Given the description of an element on the screen output the (x, y) to click on. 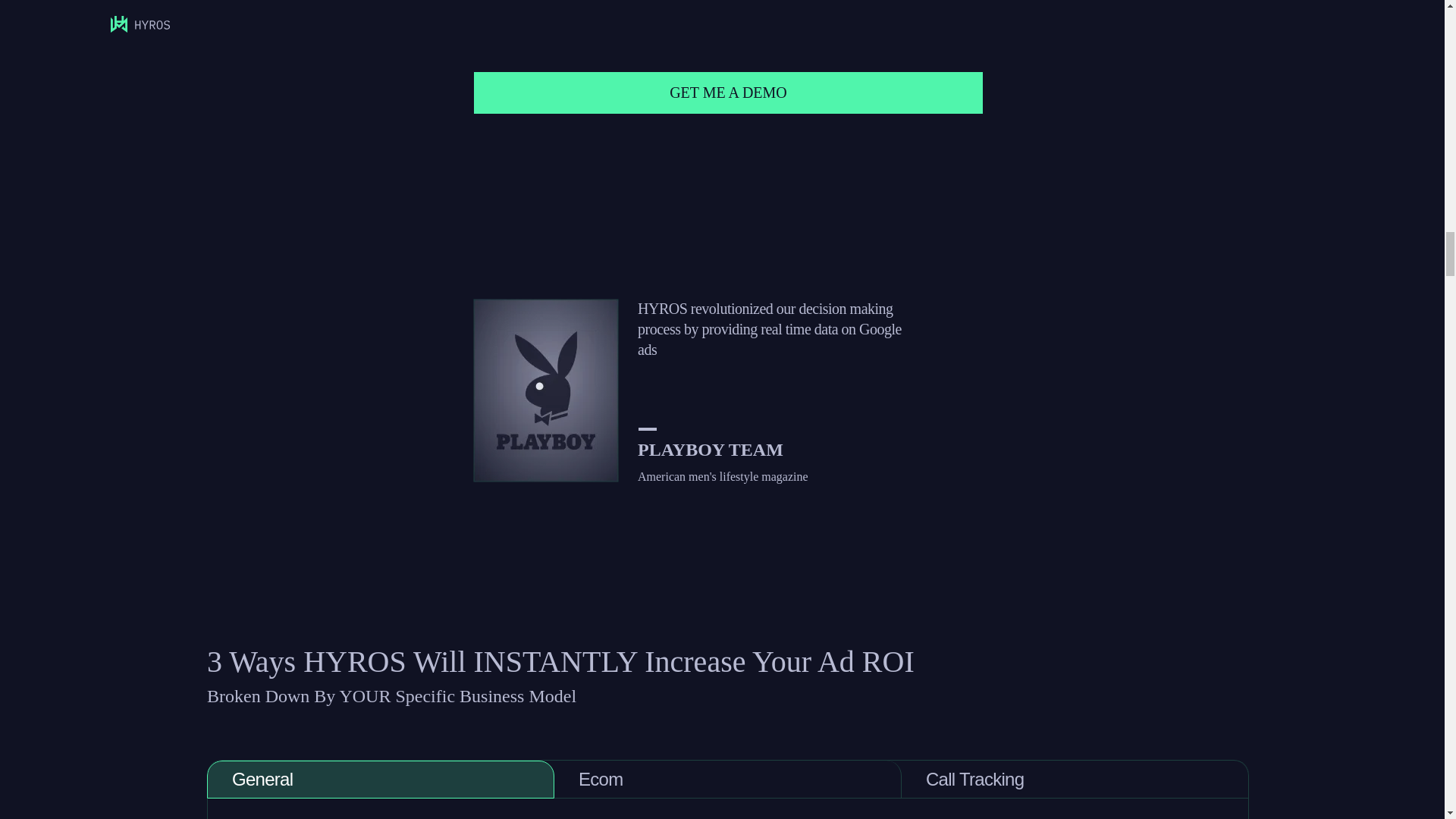
GET ME A DEMO (729, 92)
General (380, 779)
Call Tracking (1075, 779)
Ecom (727, 779)
